Given the description of an element on the screen output the (x, y) to click on. 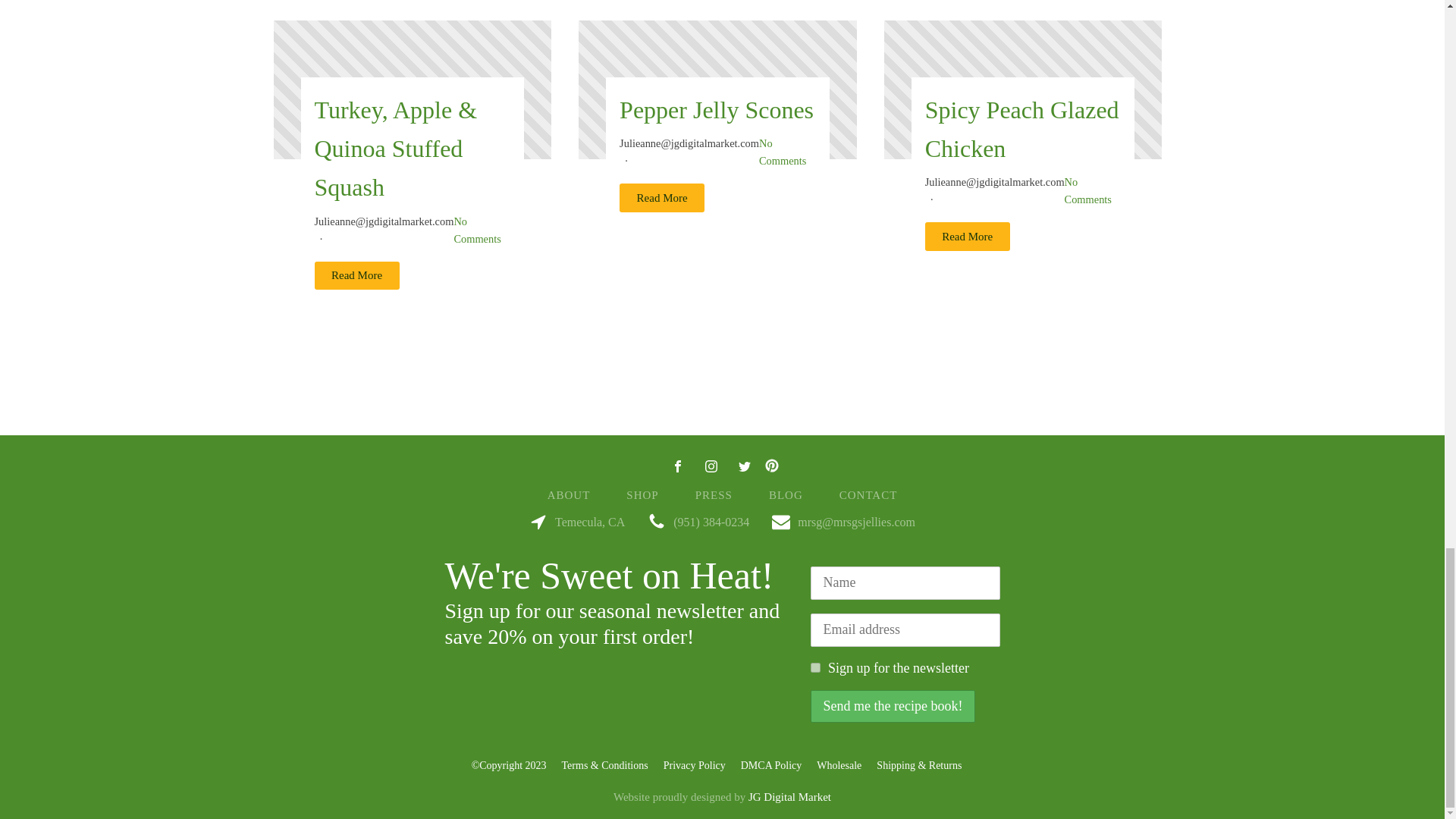
717ce4cca2 (814, 667)
Send me the recipe book! (892, 706)
